Given the description of an element on the screen output the (x, y) to click on. 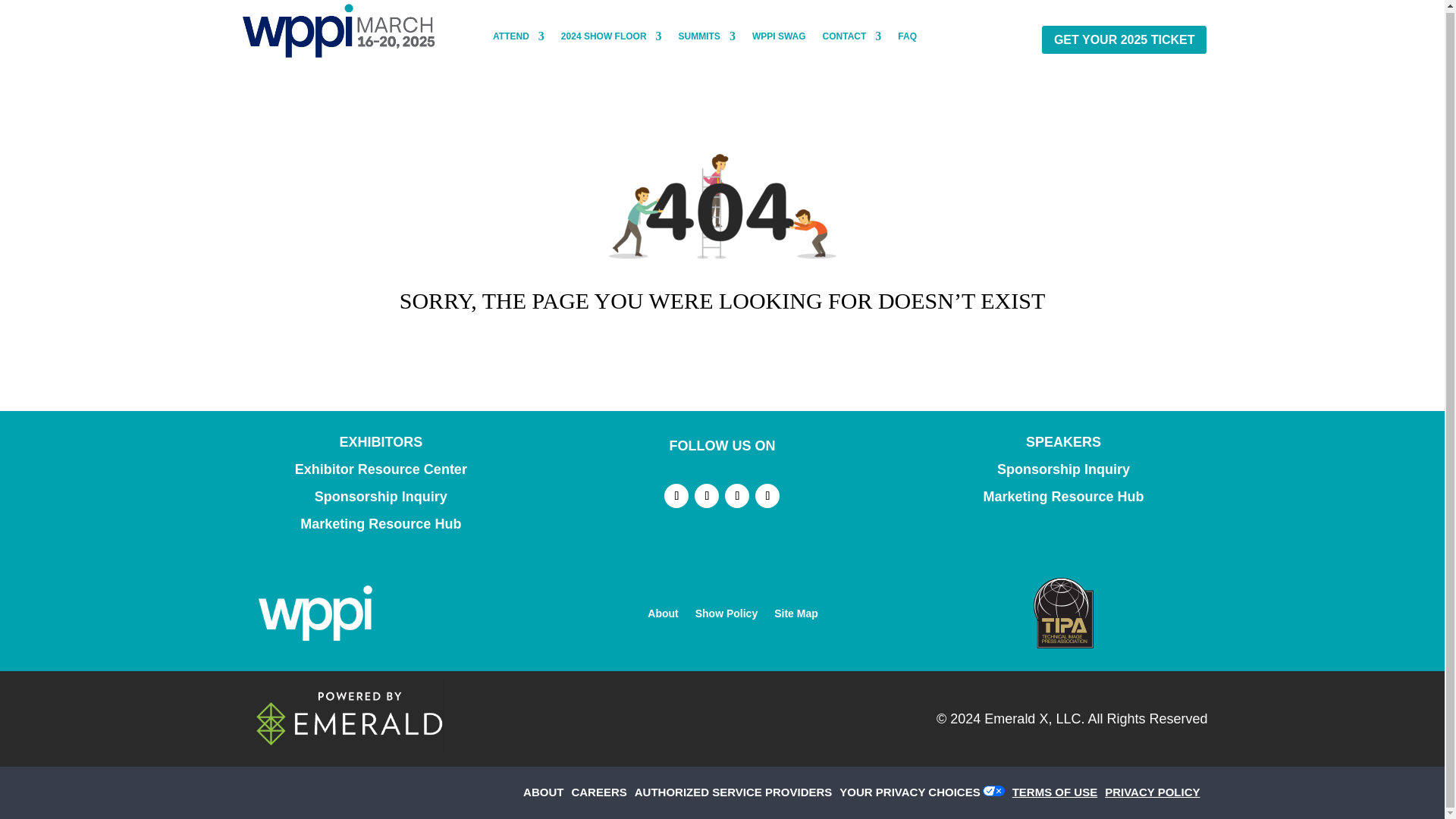
your-privacy-choices (913, 791)
terms-of-use (1058, 791)
Follow on Instagram (737, 495)
2024 SHOW FLOOR (611, 39)
about (546, 791)
FAQ (907, 39)
WPPI SWAG (779, 39)
Follow on Youtube (766, 495)
CONTACT (852, 39)
privacy-policy (1156, 791)
